Given the description of an element on the screen output the (x, y) to click on. 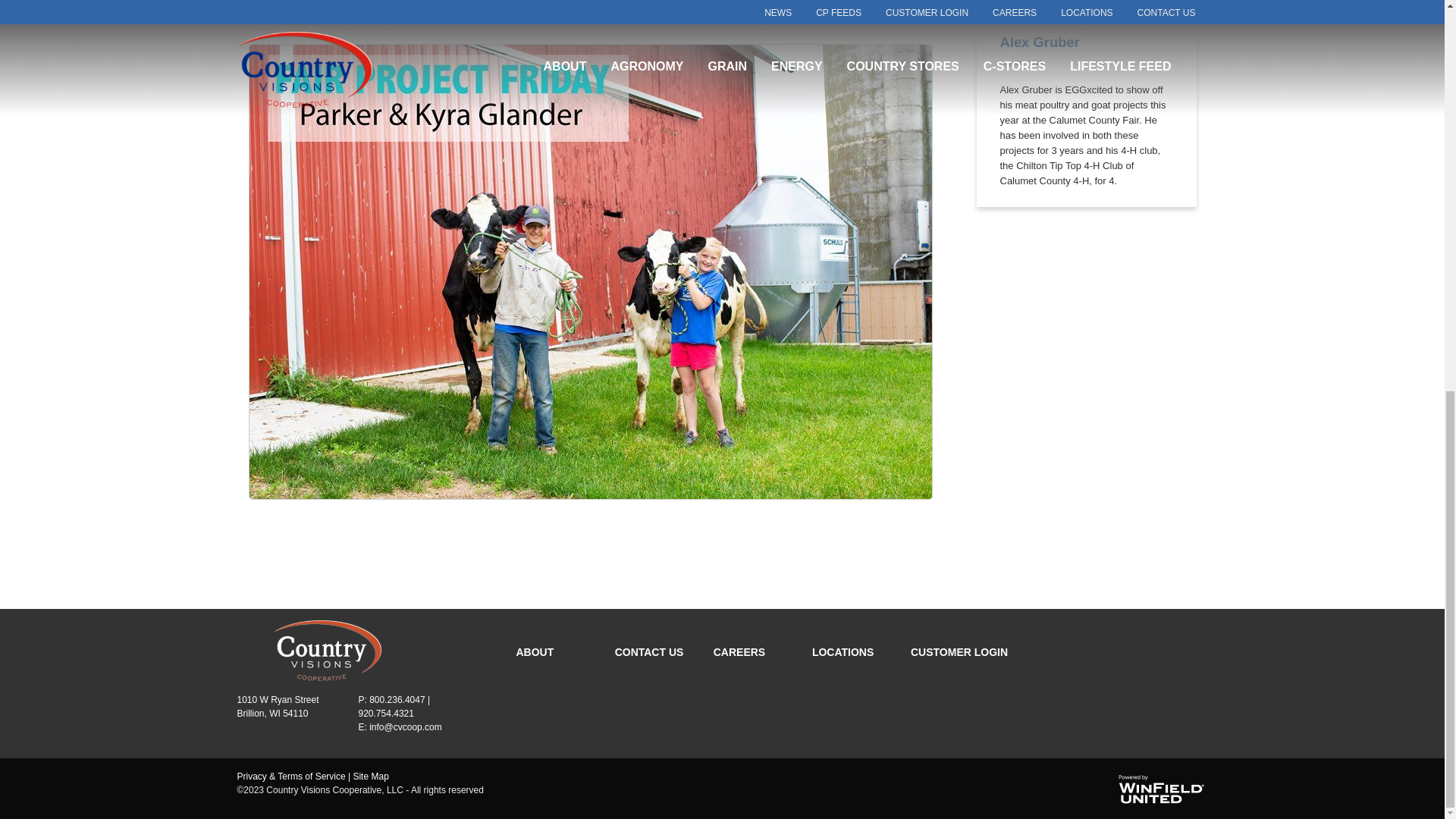
CAREERS (739, 652)
LOCATIONS (842, 652)
ABOUT (534, 652)
winfieldunited (1160, 788)
Privacy (290, 775)
Site Map (370, 775)
CUSTOMER LOGIN (959, 652)
CONTACT US (649, 652)
